Given the description of an element on the screen output the (x, y) to click on. 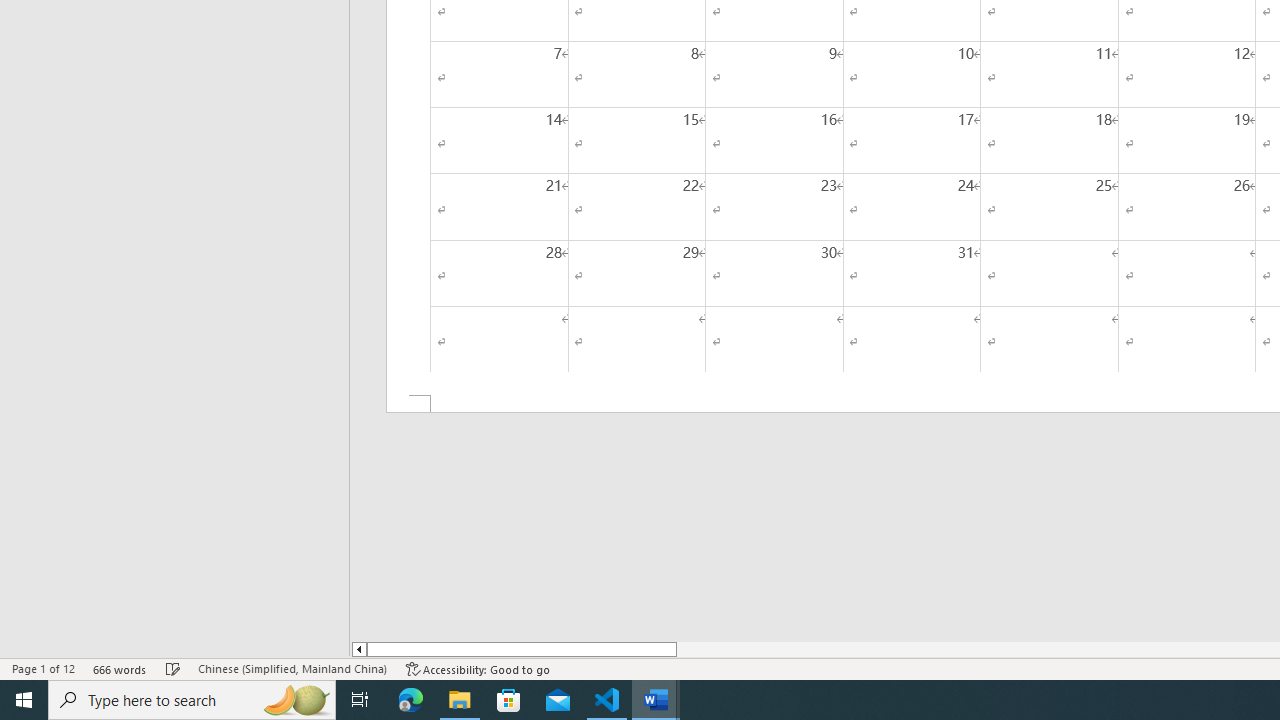
Page Number Page 1 of 12 (43, 668)
Spelling and Grammar Check Checking (173, 668)
Word Count 666 words (119, 668)
Column left (358, 649)
Language Chinese (Simplified, Mainland China) (292, 668)
Accessibility Checker Accessibility: Good to go (478, 668)
